Given the description of an element on the screen output the (x, y) to click on. 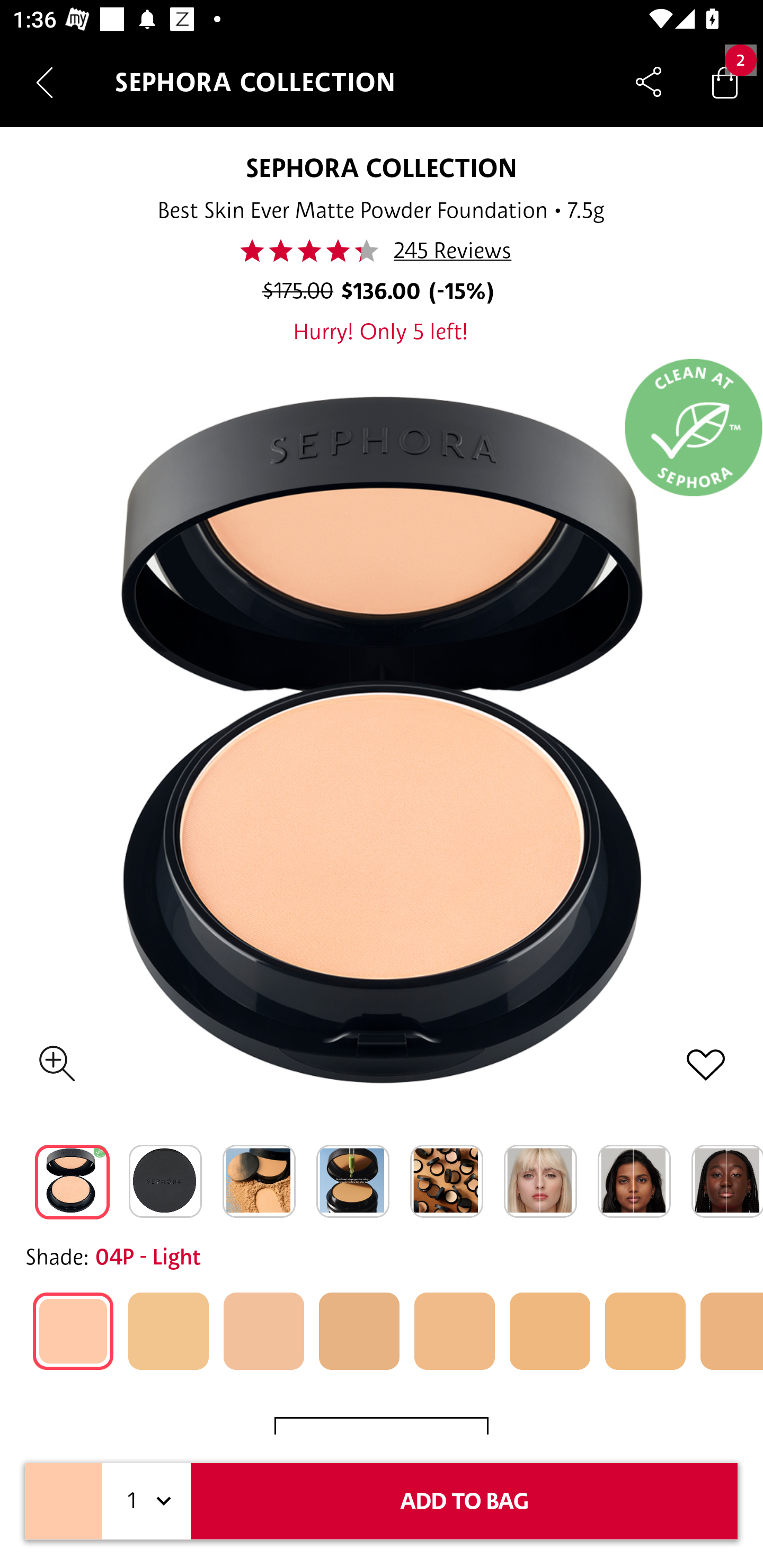
Navigate up (44, 82)
Share (648, 81)
Bag (724, 81)
SEPHORA COLLECTION (380, 167)
43.0 245 Reviews (381, 250)
1 (145, 1500)
ADD TO BAG (463, 1500)
